Given the description of an element on the screen output the (x, y) to click on. 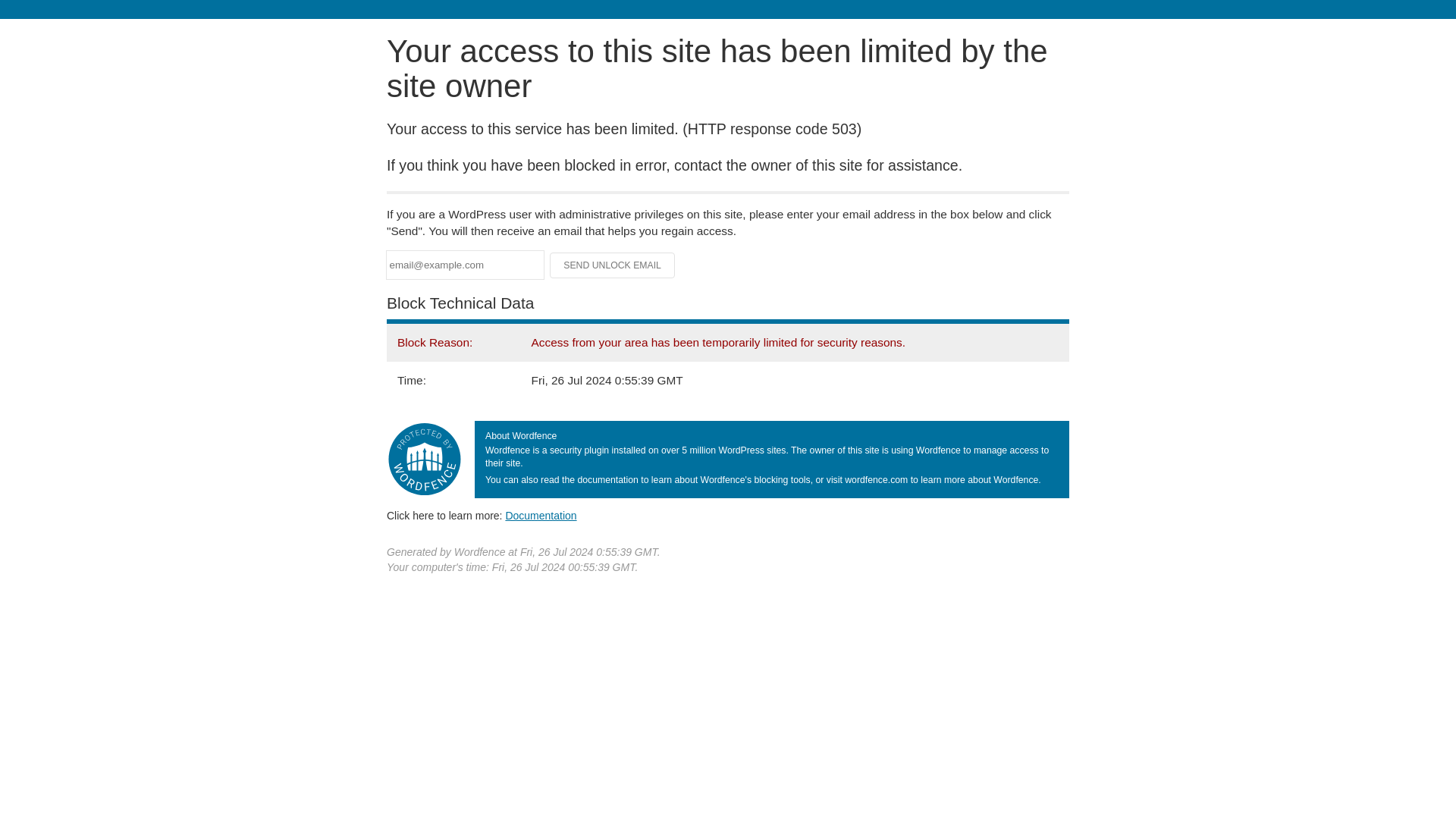
Documentation (540, 515)
Send Unlock Email (612, 265)
Send Unlock Email (612, 265)
